Given the description of an element on the screen output the (x, y) to click on. 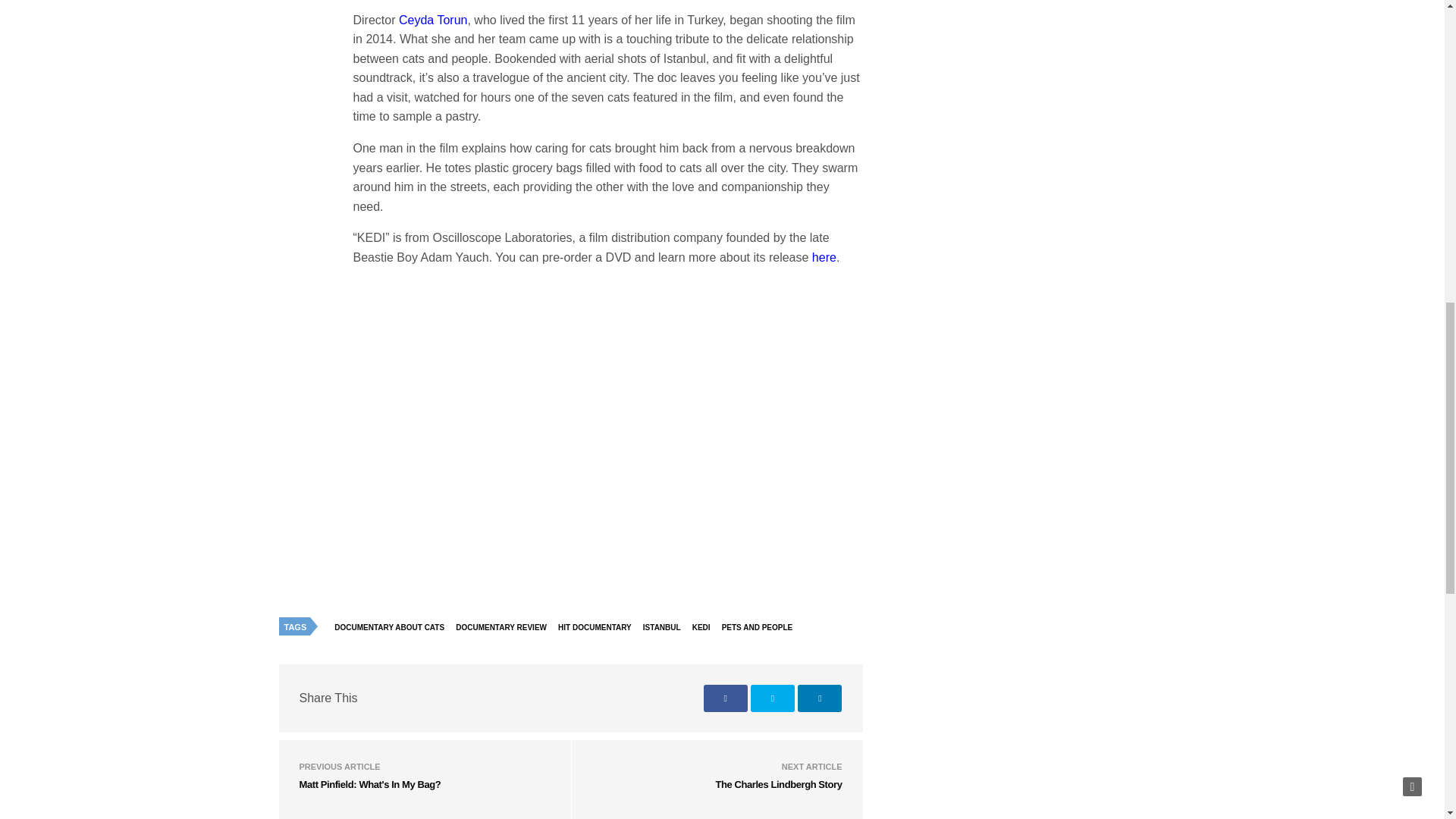
The Charles Lindbergh Story (777, 784)
HIT DOCUMENTARY (598, 627)
Matt Pinfield: What's In My Bag? (369, 784)
ISTANBUL (665, 627)
PETS AND PEOPLE (761, 627)
The Charles Lindbergh Story (777, 784)
KEDI (705, 627)
DOCUMENTARY REVIEW (504, 627)
DOCUMENTARY ABOUT CATS (392, 627)
here (823, 256)
